Given the description of an element on the screen output the (x, y) to click on. 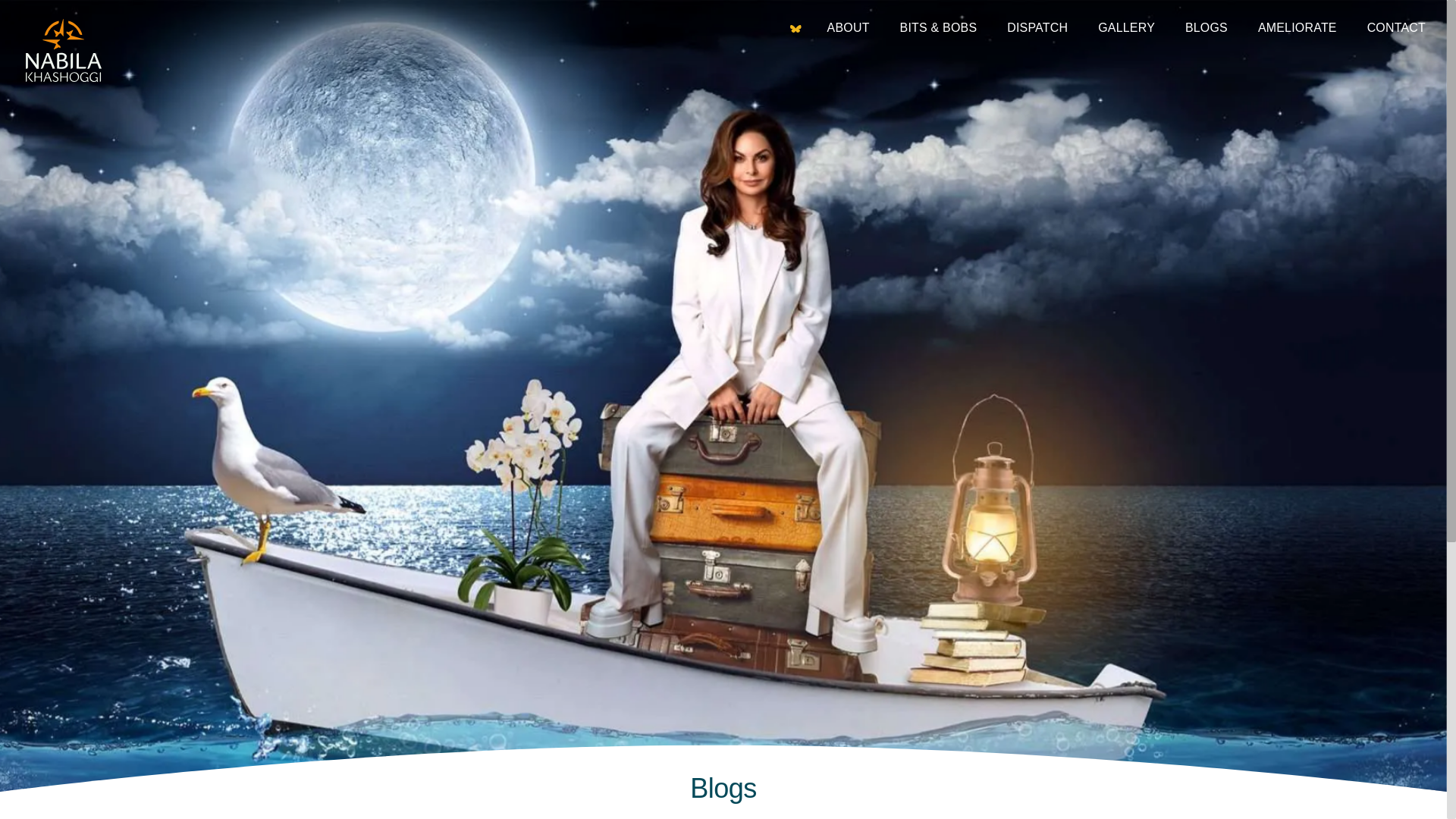
BLOGS (1206, 28)
Nabila Khashoggi's Logo (63, 49)
CONTACT (1396, 28)
Link to the main page (63, 52)
ABOUT (847, 28)
AMELIORATE (1297, 28)
DISPATCH (1036, 28)
Link to the main page (796, 28)
GALLERY (1126, 28)
Nabila Khashoggi's Logo (63, 52)
